Given the description of an element on the screen output the (x, y) to click on. 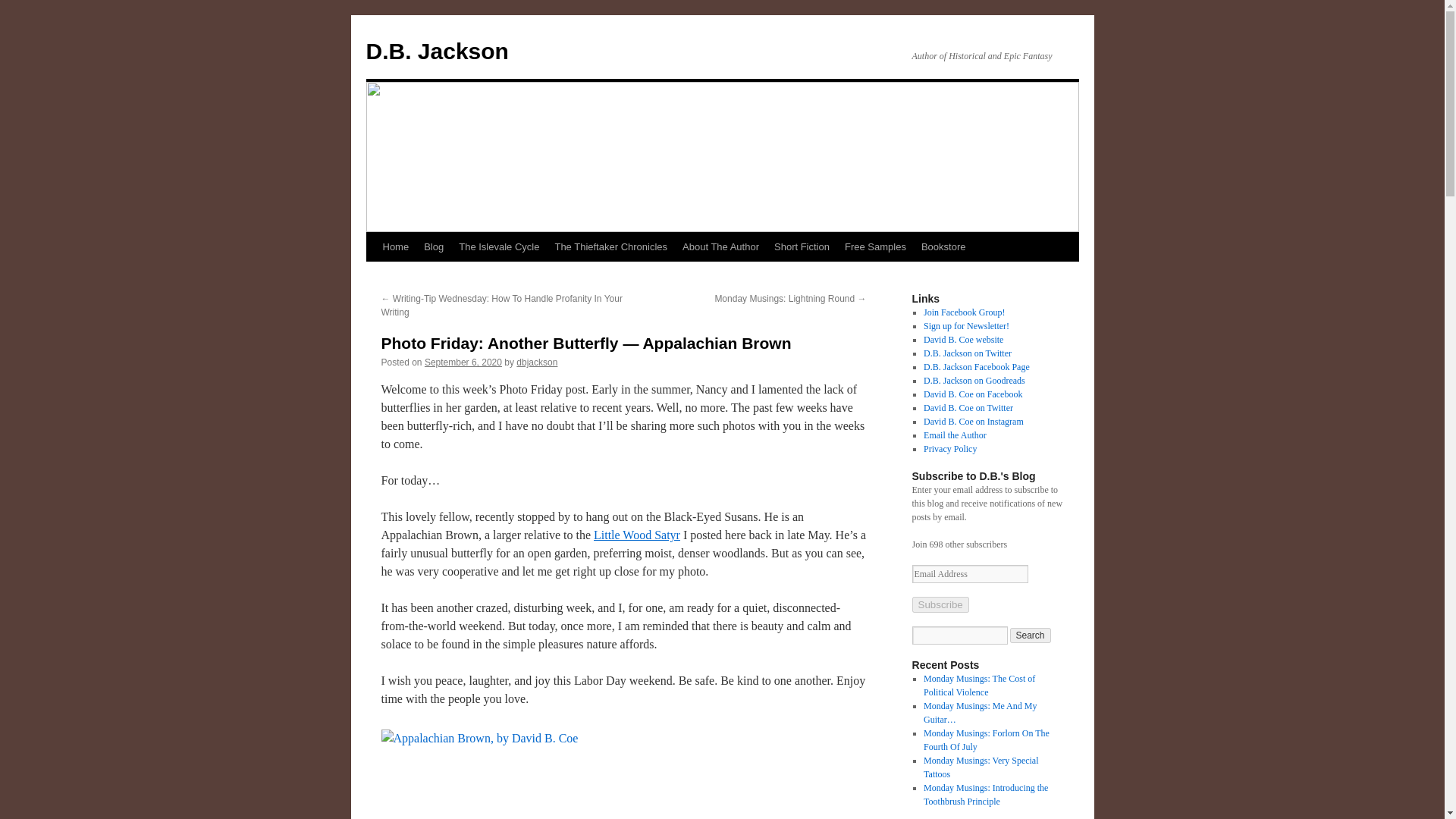
The Thieftaker Chronicles (611, 246)
About The Author (721, 246)
Free Samples (875, 246)
D.B. Jackson (436, 50)
September 6, 2020 (463, 362)
Who is this guy? (721, 246)
Search (1030, 635)
Little Wood Satyr (636, 534)
D.B. Jackson (436, 50)
Bookstore (944, 246)
D.B. Jackson Homepage (395, 246)
dbjackson (536, 362)
Home (395, 246)
Blog (433, 246)
Short Fiction (802, 246)
